Given the description of an element on the screen output the (x, y) to click on. 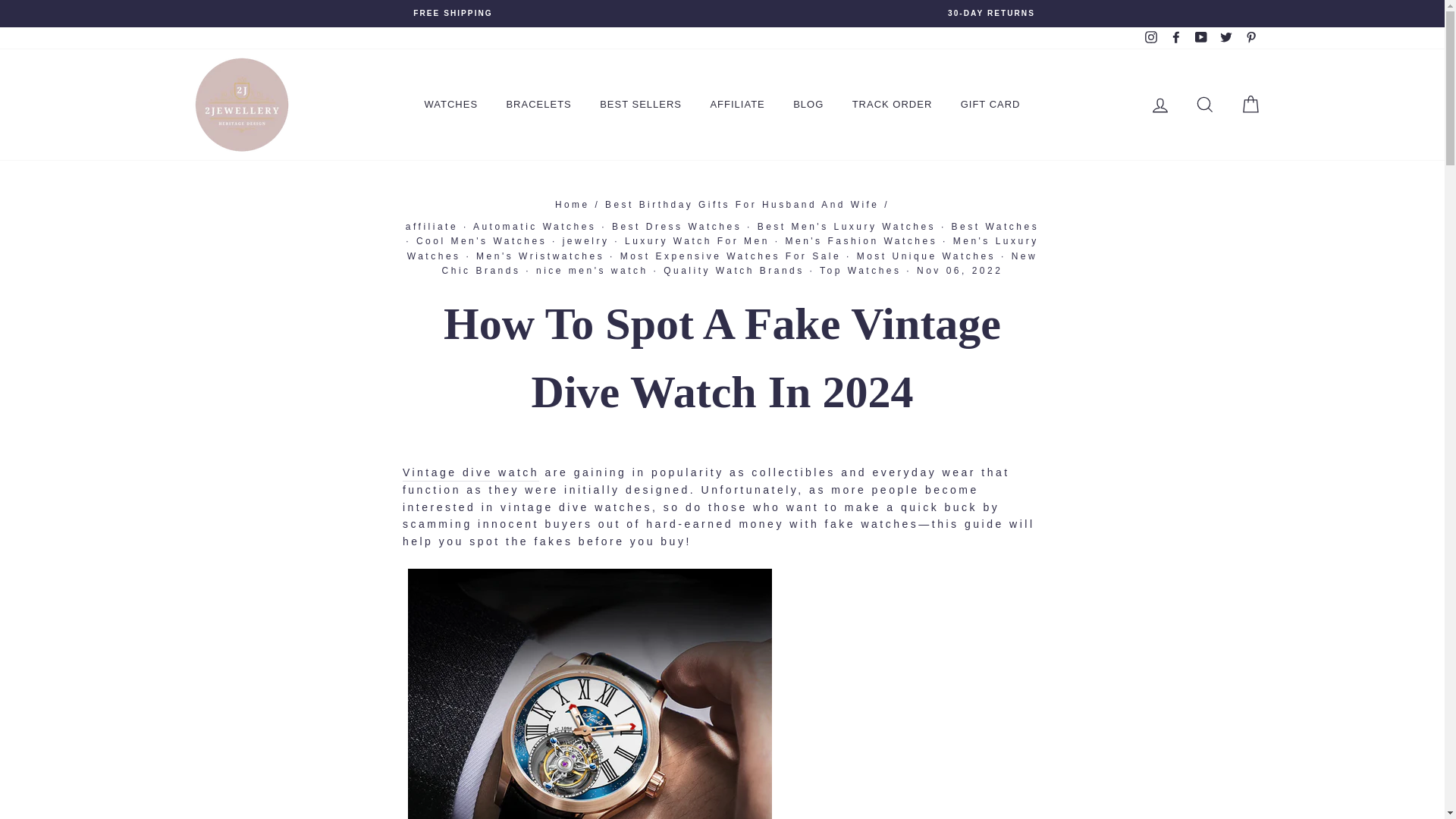
Pinterest (1250, 38)
Back to the frontpage (571, 204)
Vintage Dive Watch (470, 472)
Instagram (1150, 38)
WATCHES (450, 103)
YouTube (1201, 38)
FREE SHIPPING (453, 13)
Twitter (1225, 38)
Facebook (1176, 38)
